Given the description of an element on the screen output the (x, y) to click on. 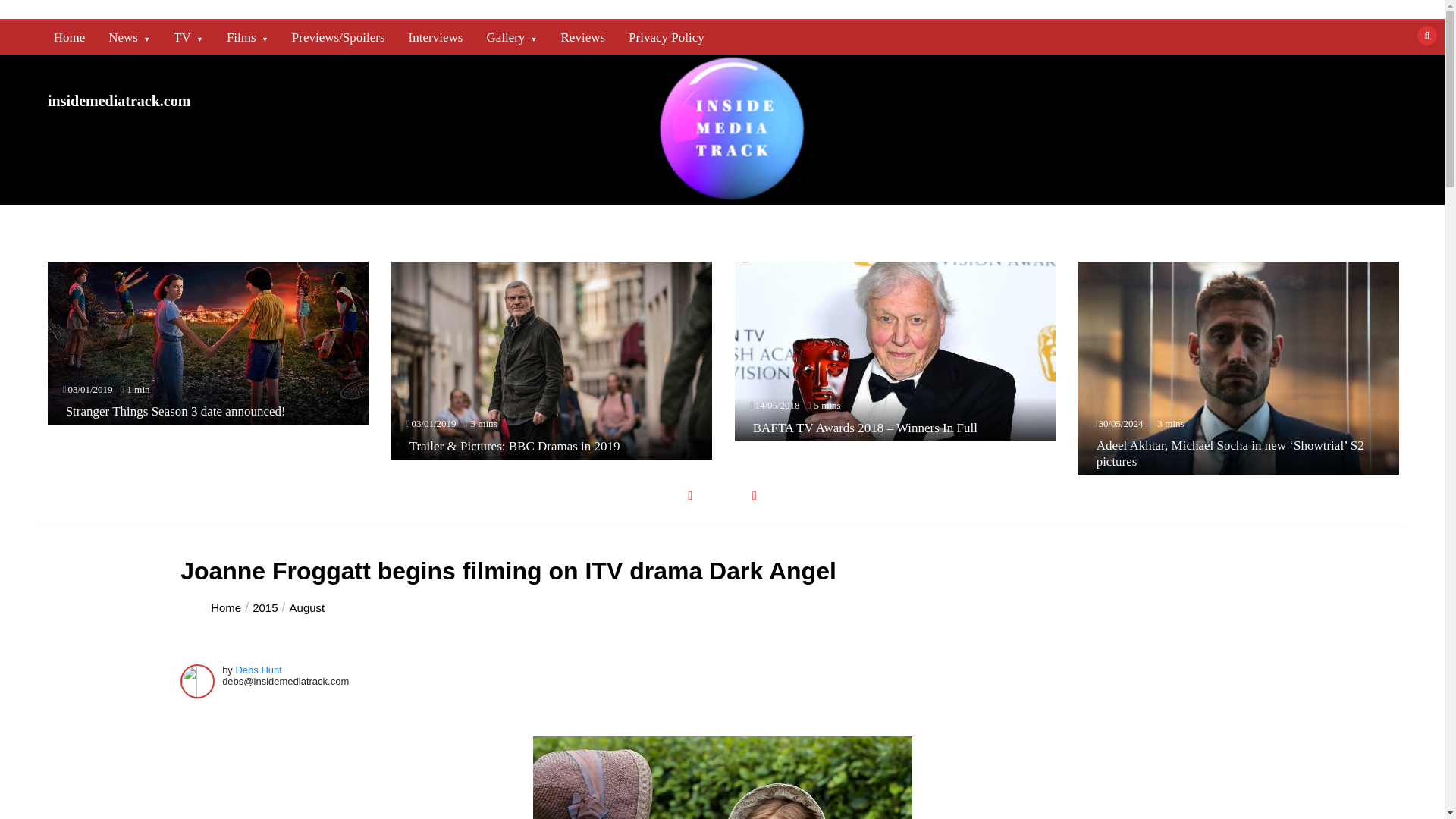
Films (248, 37)
Interviews (435, 37)
Privacy Policy (666, 37)
Reviews (582, 37)
Gallery (511, 37)
Privacy Policy (666, 37)
Films (248, 37)
Gallery (511, 37)
Interviews (435, 37)
News (128, 37)
TV (188, 37)
Reviews (582, 37)
News (128, 37)
TV (188, 37)
Home (69, 37)
